Given the description of an element on the screen output the (x, y) to click on. 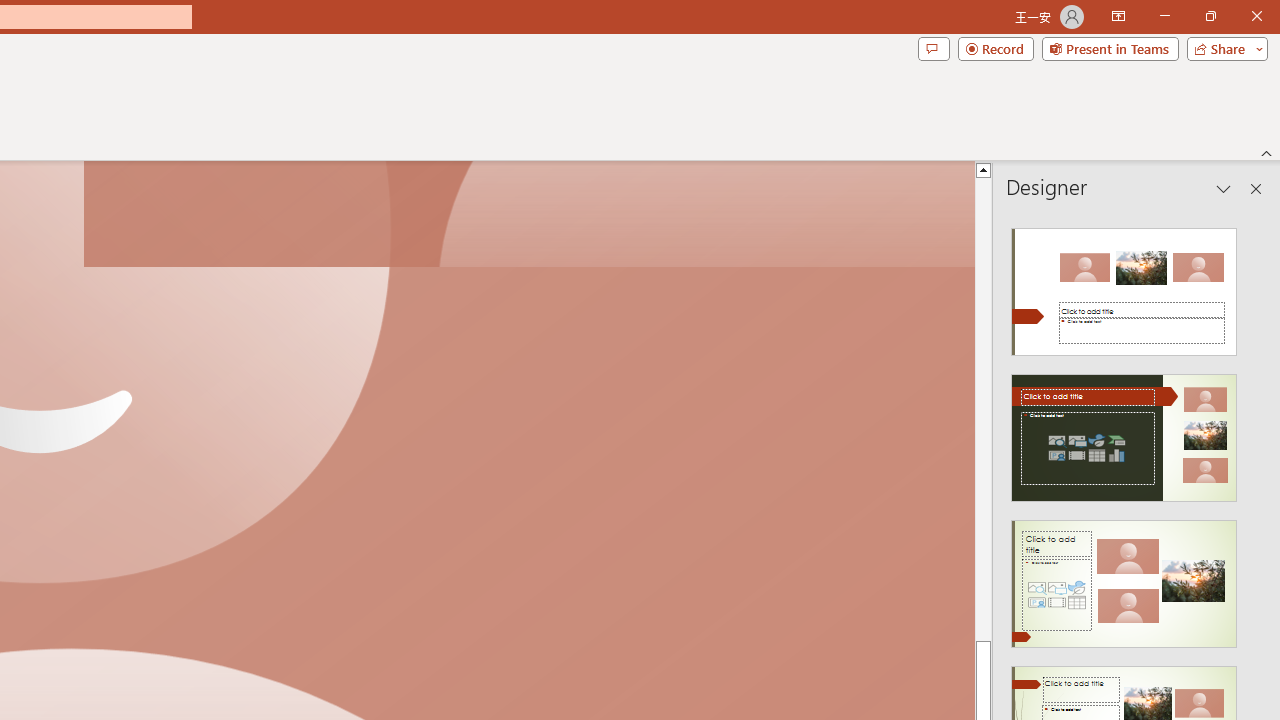
Recommended Design: Design Idea (1124, 286)
